Given the description of an element on the screen output the (x, y) to click on. 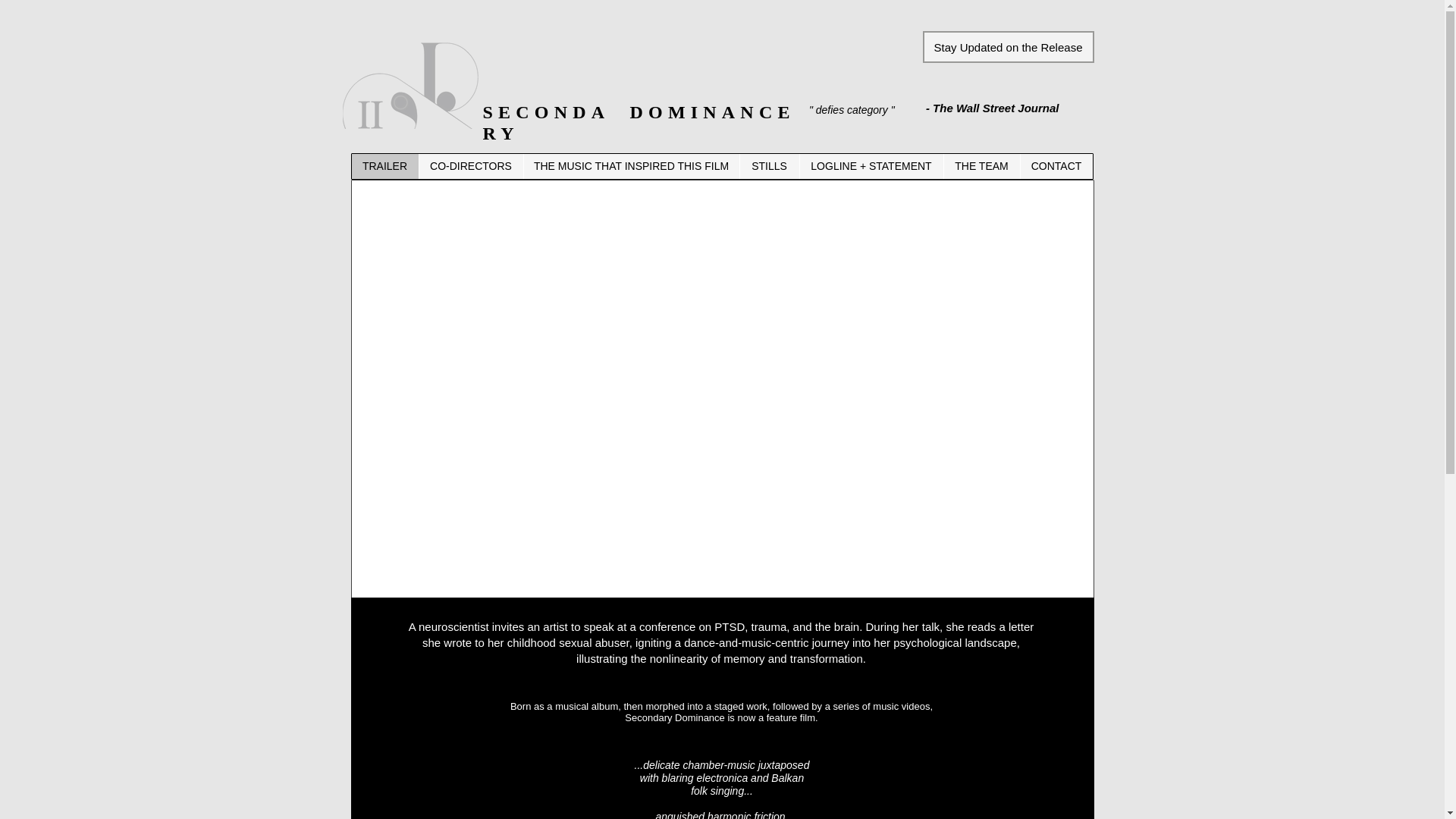
CONTACT (1055, 166)
CO-DIRECTORS (470, 166)
THE MUSIC THAT INSPIRED THIS FILM (630, 166)
Stay Updated on the Release (1007, 47)
THE TEAM (981, 166)
STILLS (767, 166)
TRAILER (385, 166)
